Given the description of an element on the screen output the (x, y) to click on. 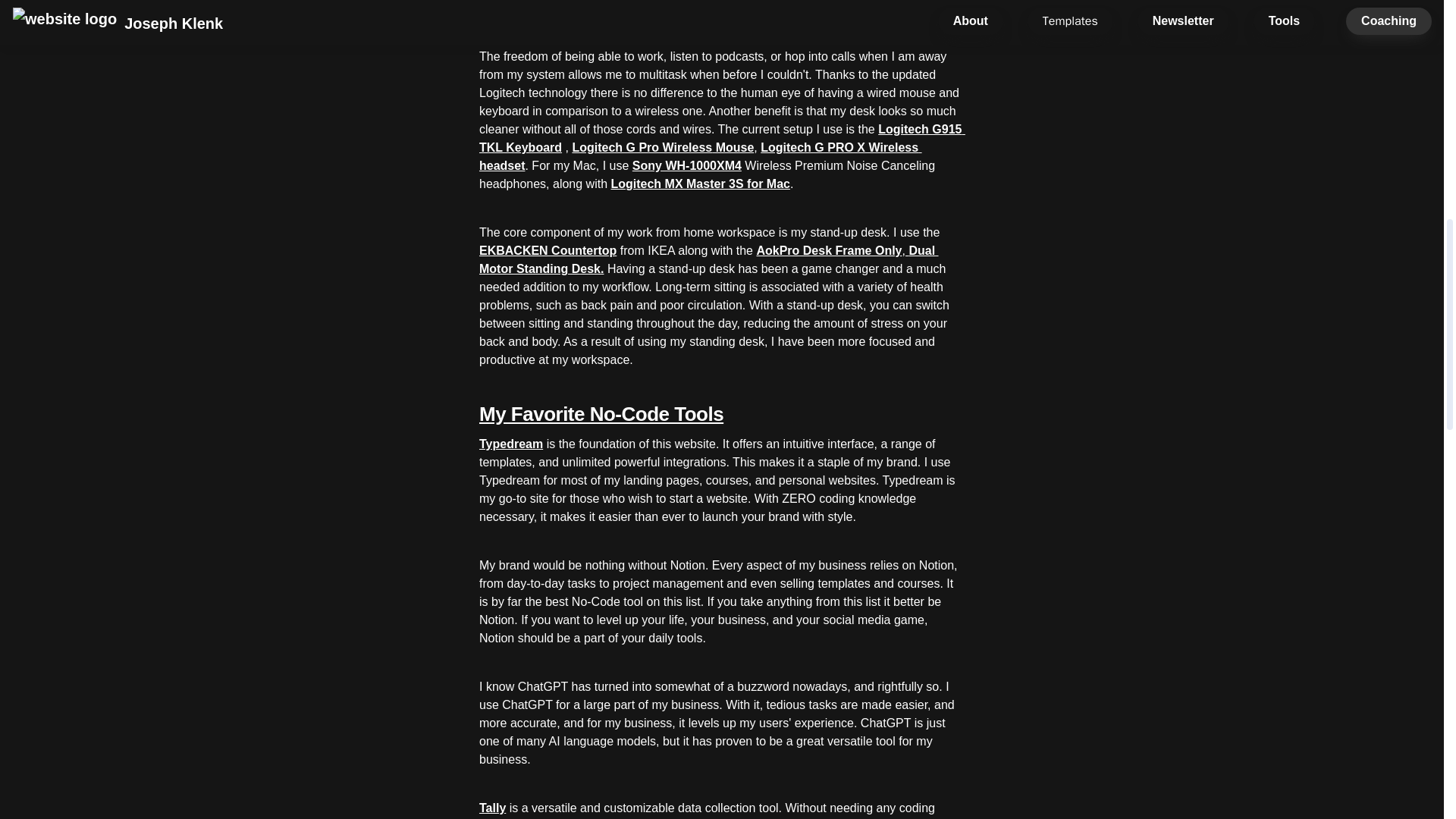
Logitech G915 TKL Keyboard (722, 137)
Logitech G PRO X Wireless headset (700, 155)
AokPro Desk Frame Only, Dual Motor Standing Desk. (709, 259)
Logitech MX Master 3S for Mac (700, 183)
EKBACKEN Countertop  (549, 250)
 Mouse (732, 146)
Typedream (511, 443)
Logitech G Pro Wireless (641, 146)
Sony WH-1000XM4 (686, 164)
Tally (492, 807)
